Given the description of an element on the screen output the (x, y) to click on. 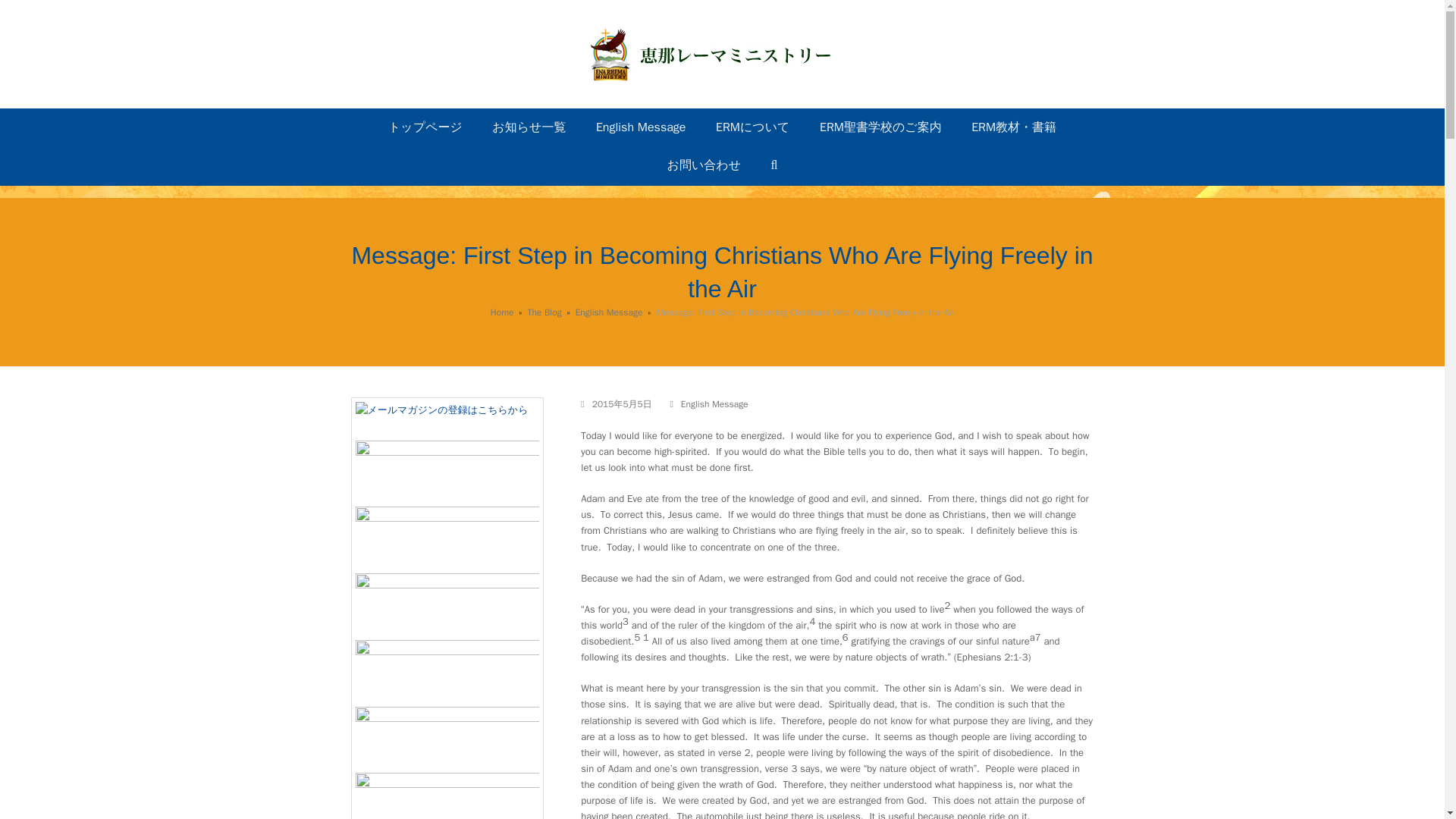
The Blog (543, 312)
English Message (714, 403)
English Message (609, 312)
English Message (640, 127)
Home (501, 312)
